Given the description of an element on the screen output the (x, y) to click on. 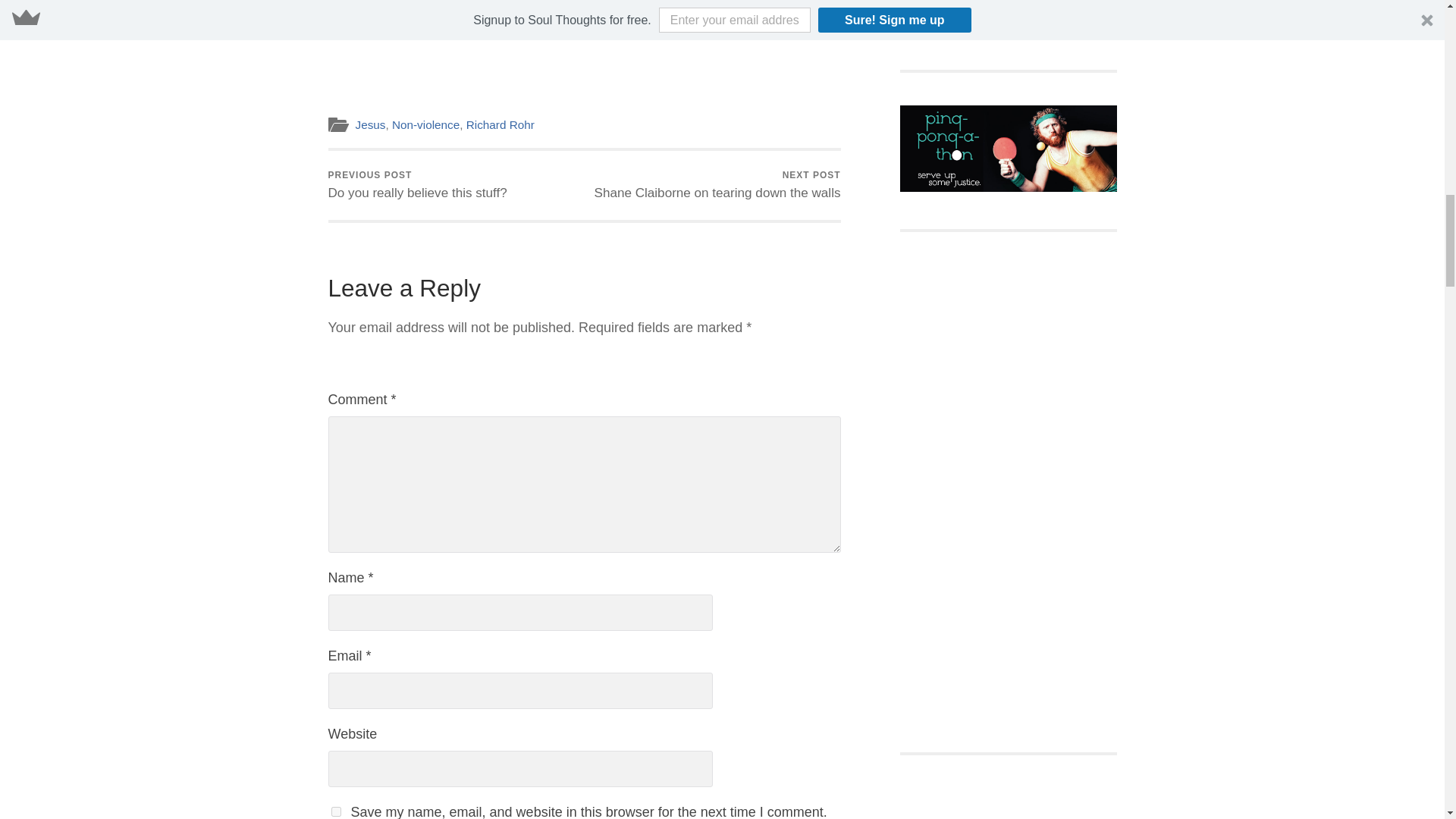
Why is Related Content not showing up? (583, 6)
yes (335, 811)
